Given the description of an element on the screen output the (x, y) to click on. 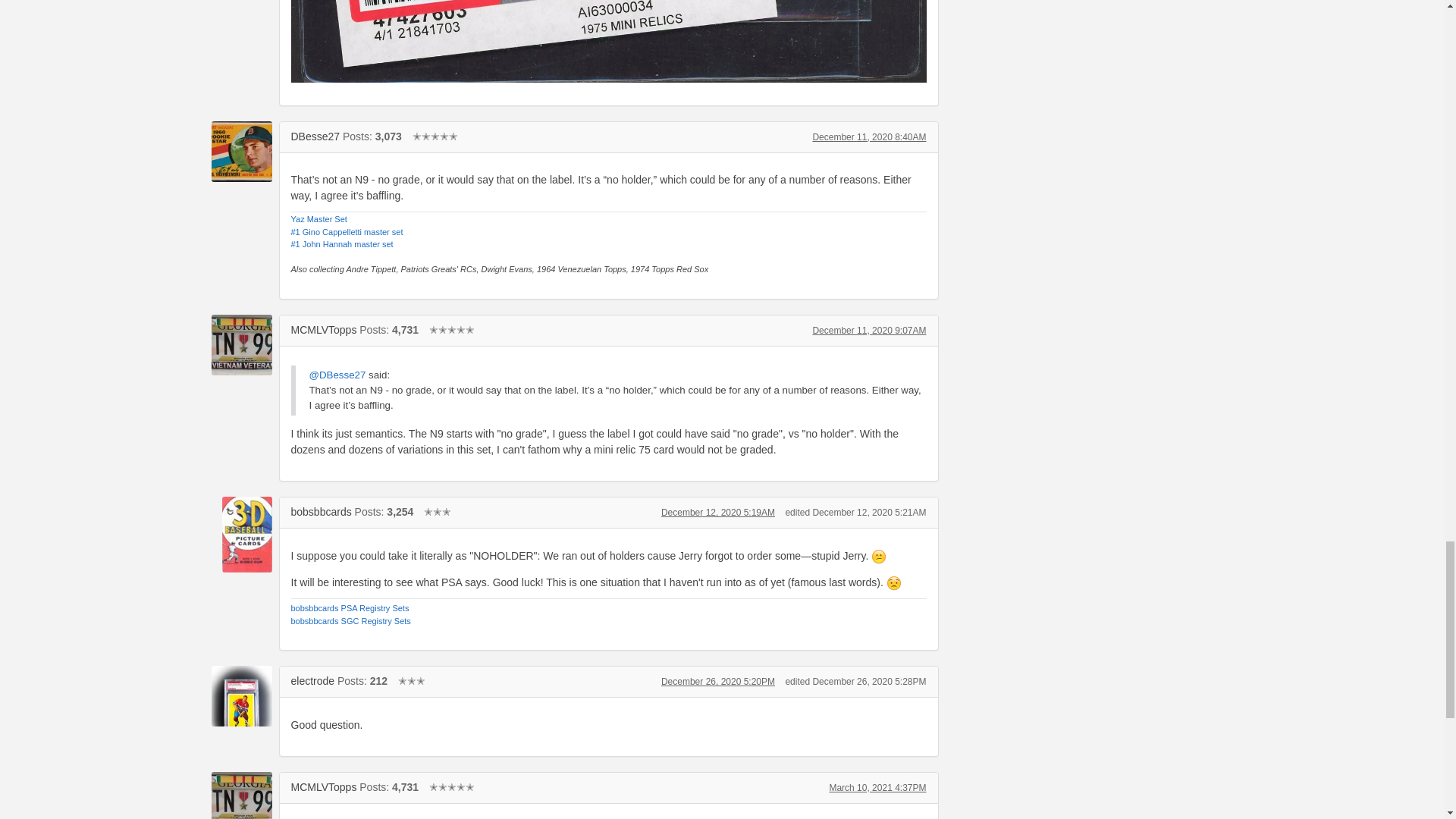
December 11, 2020 9:07AM (869, 330)
December 11, 2020 8:40AM (869, 136)
electrode (312, 680)
bobsbbcards SGC Registry Sets (350, 620)
MCMLVTopps (240, 344)
December 11, 2020 8:40AM (869, 136)
DBesse27 (240, 151)
MCMLVTopps (323, 329)
bobsbbcards (321, 511)
Master Collector (435, 136)
